Given the description of an element on the screen output the (x, y) to click on. 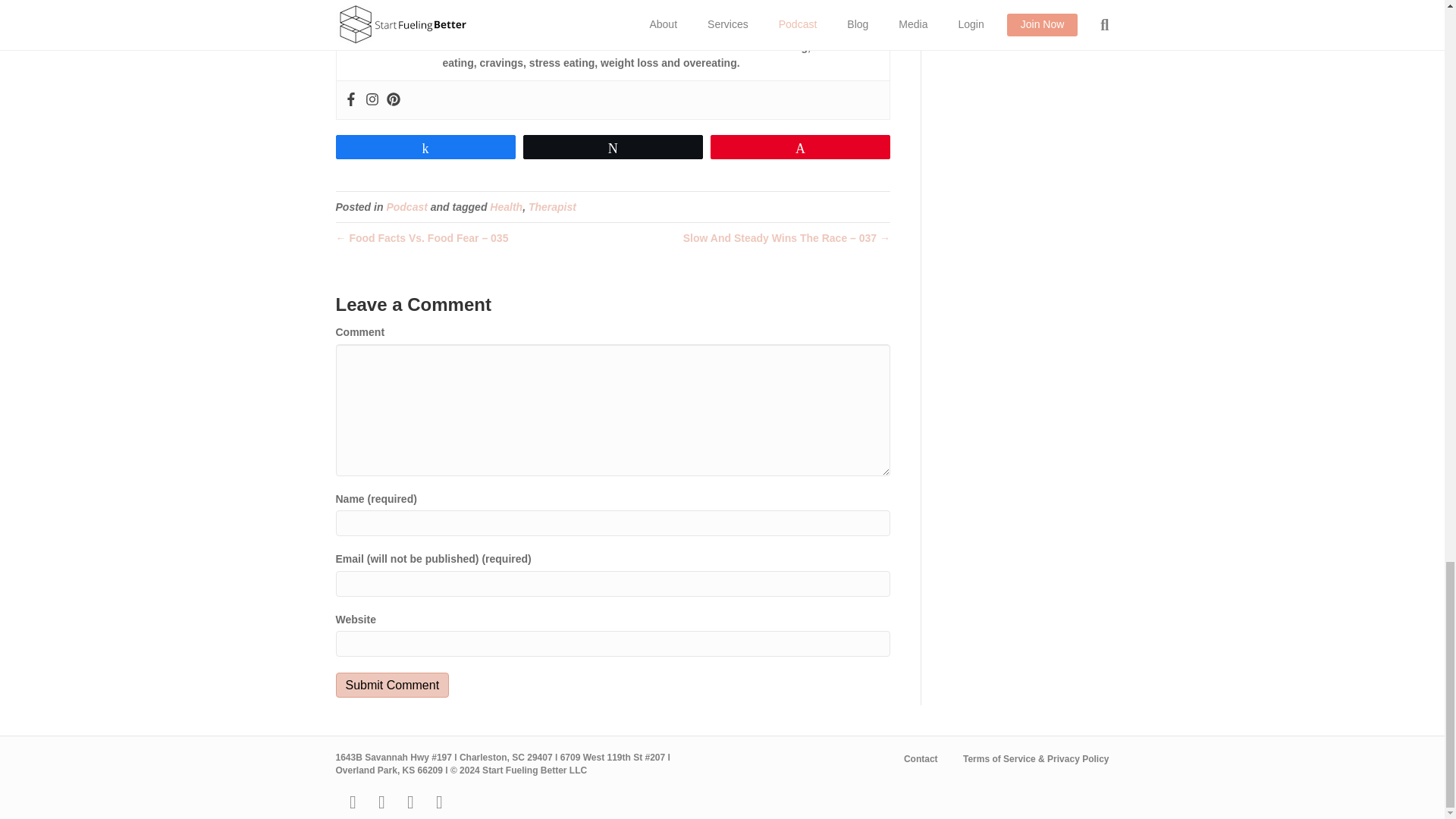
Therapist (552, 206)
Instagram (371, 99)
Submit Comment (391, 684)
Health (505, 206)
Pinterest (393, 99)
Facebook (350, 99)
Podcast (405, 206)
